Given the description of an element on the screen output the (x, y) to click on. 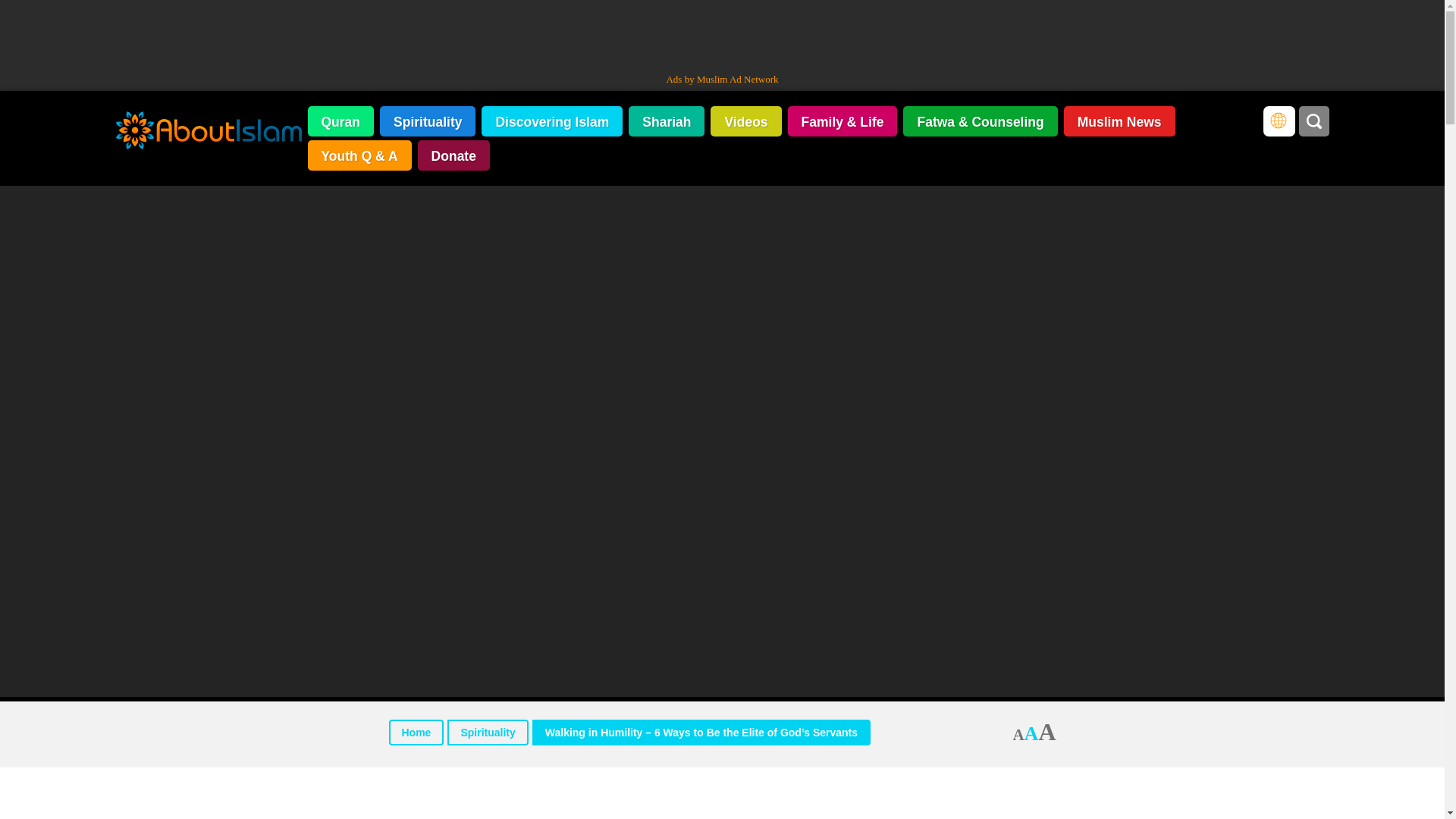
Shariah (666, 121)
Search (1312, 121)
Discovering Islam (552, 121)
Quran (340, 121)
Videos (745, 121)
Home (416, 732)
Search (1312, 121)
Spirituality (428, 121)
Spirituality (486, 732)
Ads by Muslim Ad Network (721, 79)
